Given the description of an element on the screen output the (x, y) to click on. 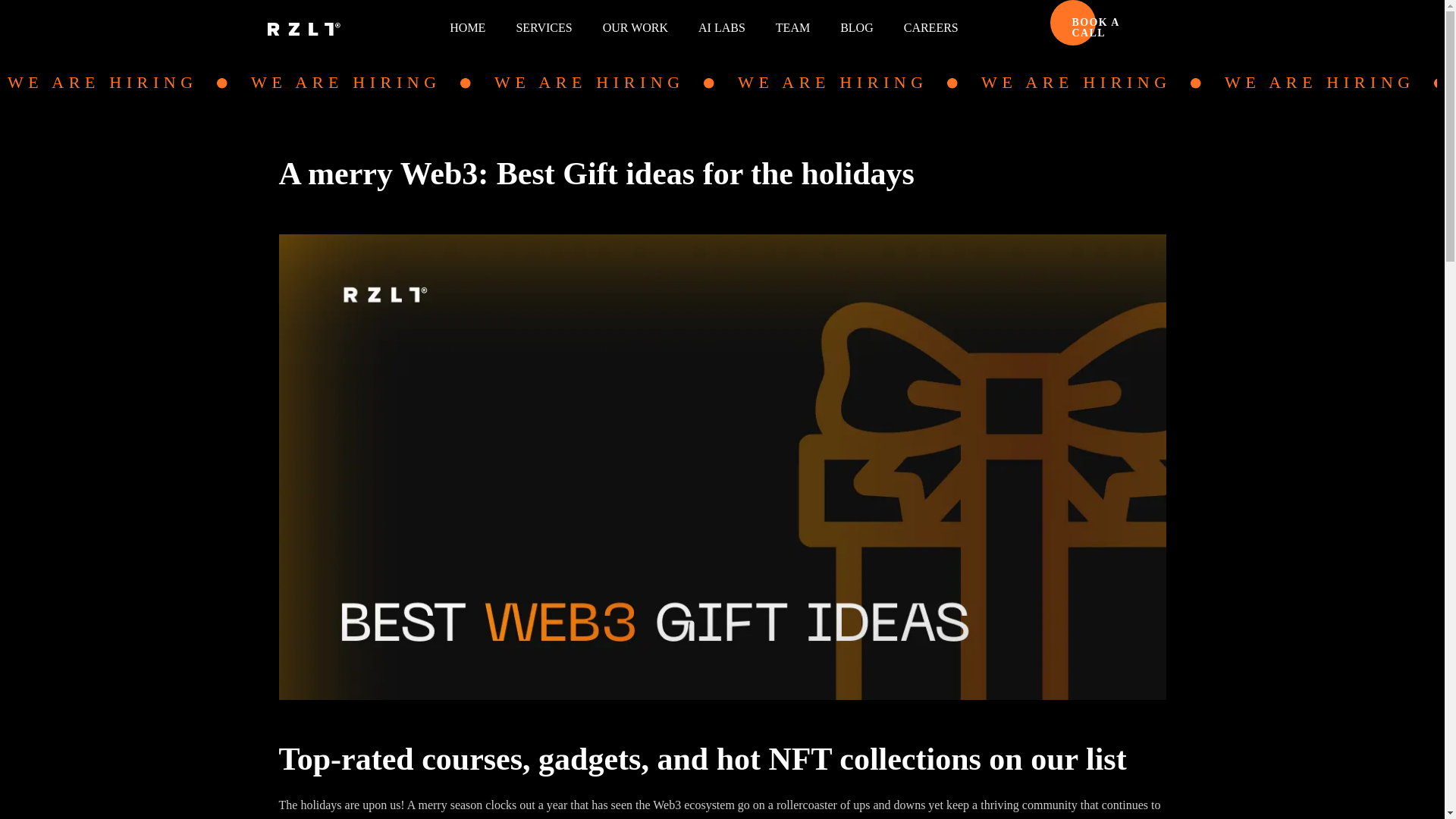
BLOG (856, 27)
CAREERS (931, 27)
AI LABS (721, 27)
SERVICES (543, 27)
HOME (466, 27)
TEAM (792, 27)
BOOK A CALL (1112, 28)
OUR WORK (635, 27)
